Given the description of an element on the screen output the (x, y) to click on. 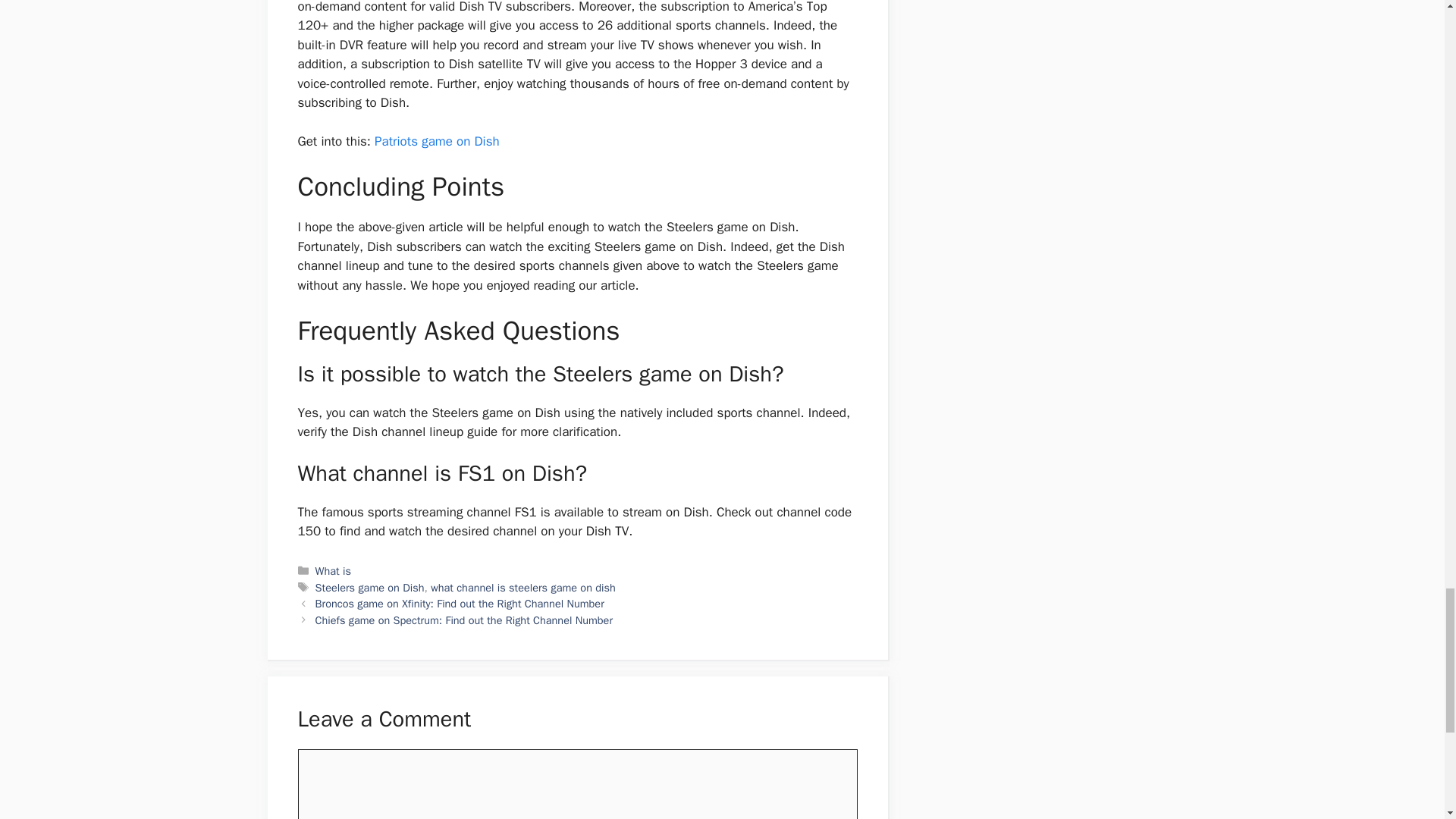
what channel is steelers game on dish (522, 587)
Steelers game on Dish (370, 587)
Chiefs game on Spectrum: Find out the Right Channel Number (463, 620)
What is (332, 571)
Patriots game on Dish (436, 141)
Broncos game on Xfinity: Find out the Right Channel Number (459, 603)
